Given the description of an element on the screen output the (x, y) to click on. 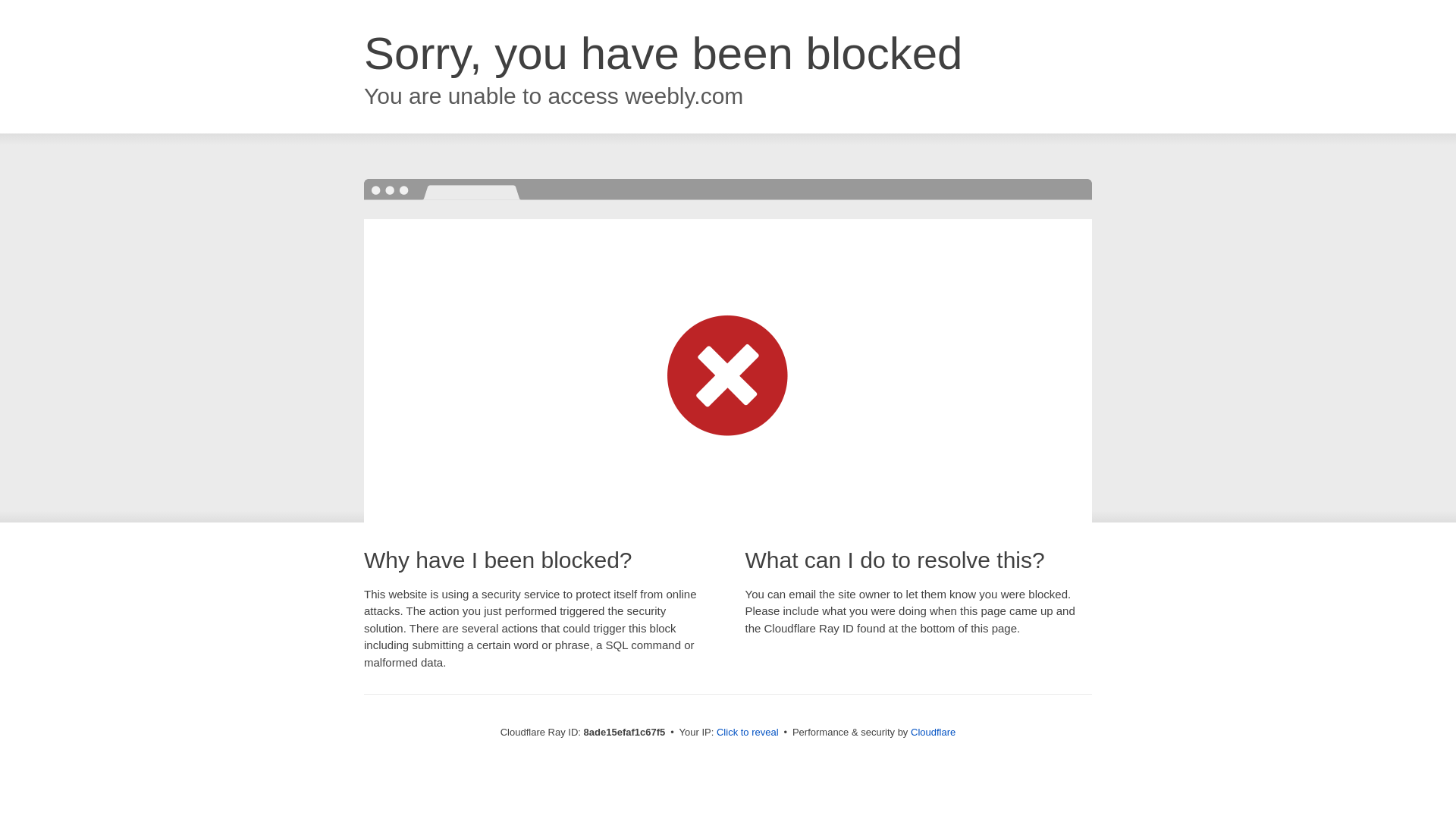
Click to reveal (747, 732)
Cloudflare (933, 731)
